Given the description of an element on the screen output the (x, y) to click on. 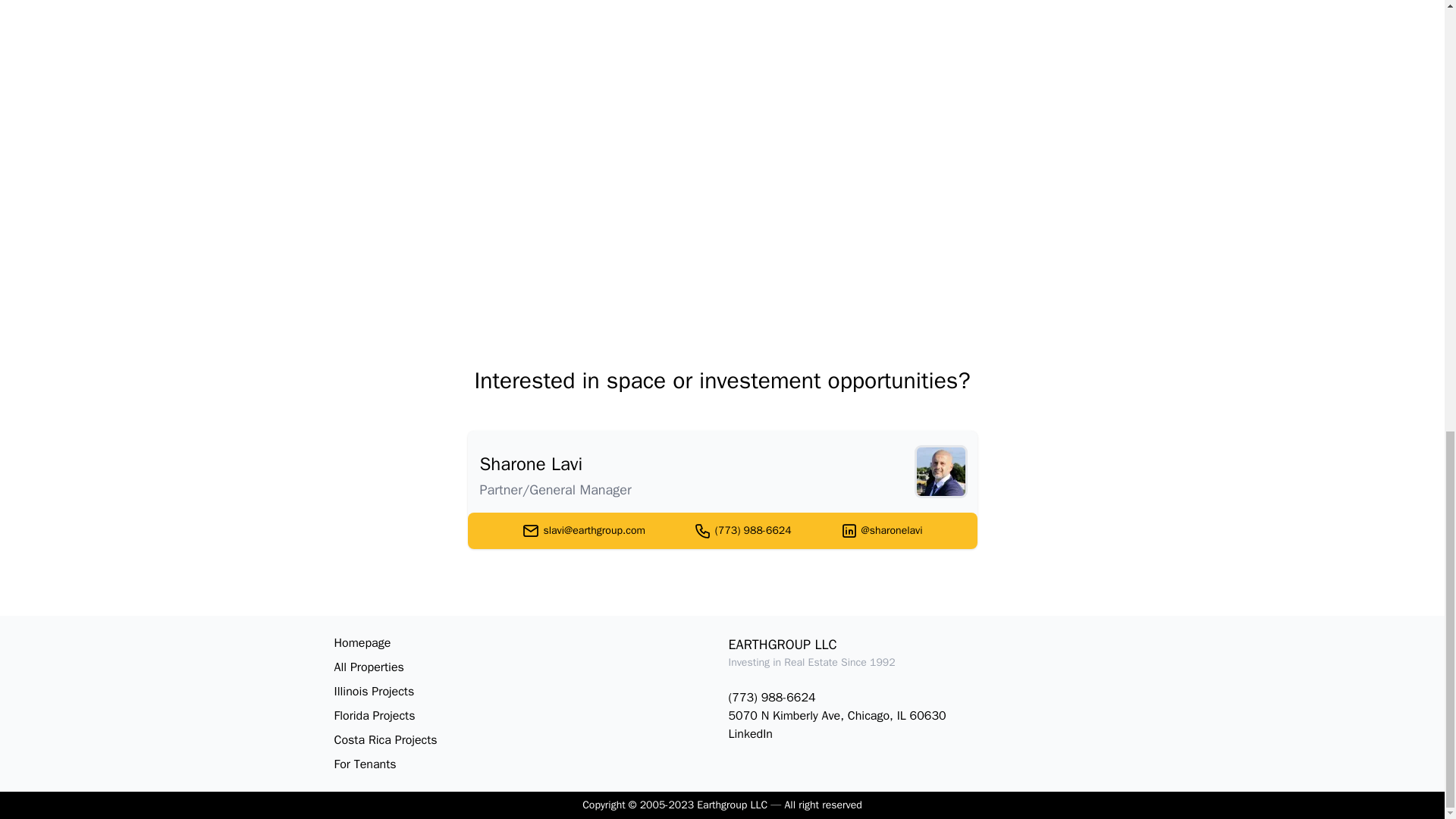
Costa Rica Projects (524, 740)
For Tenants (524, 764)
Florida Projects (524, 715)
LinkedIn (918, 733)
Homepage (524, 642)
Illinois Projects (524, 691)
All Properties (524, 667)
5070 N Kimberly Ave, Chicago, IL 60630 (918, 715)
